Given the description of an element on the screen output the (x, y) to click on. 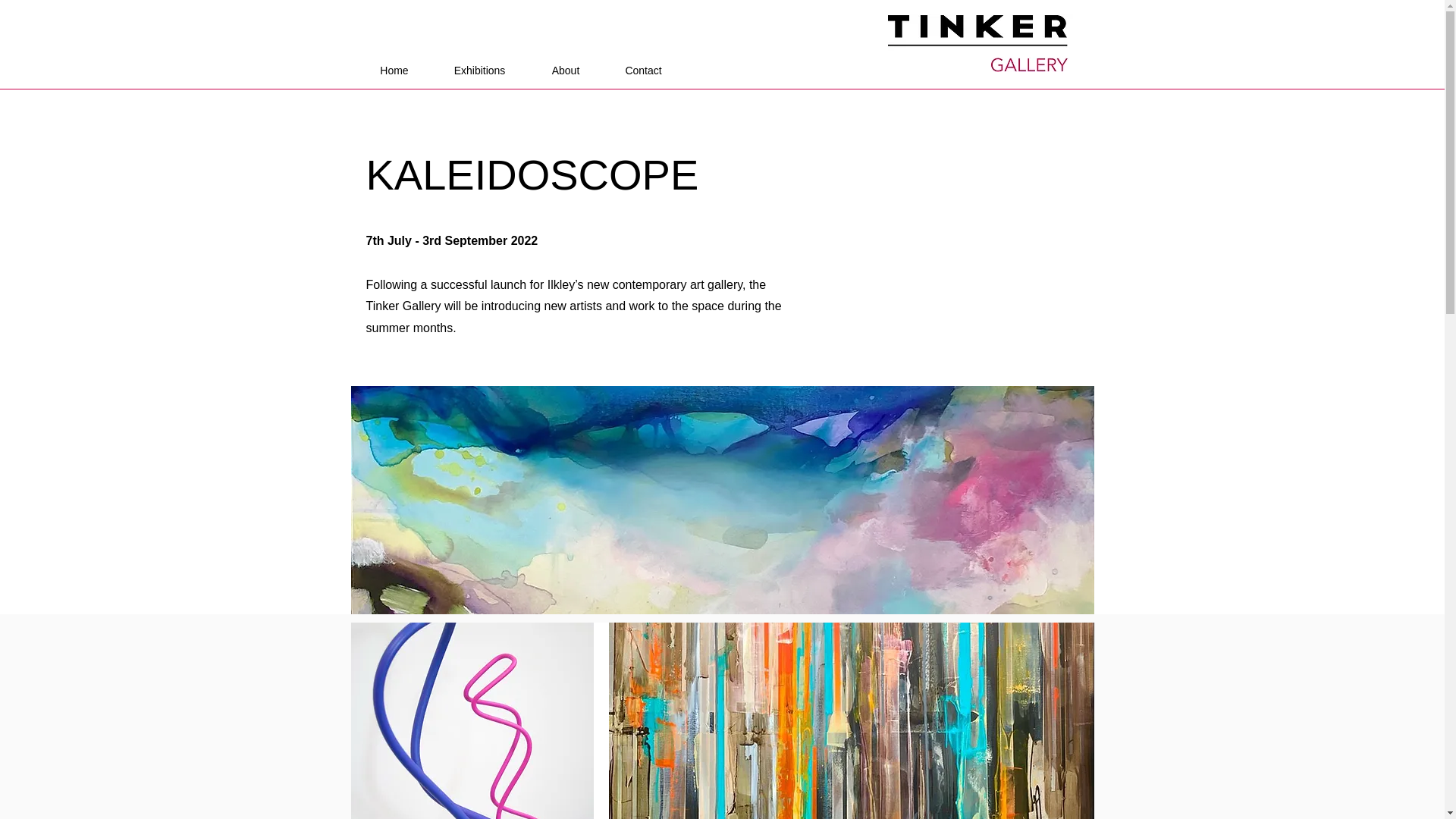
Exhibitions (479, 70)
Contact (643, 70)
Home (393, 70)
About (565, 70)
tinkergallery4 logo.jpg (975, 43)
